Given the description of an element on the screen output the (x, y) to click on. 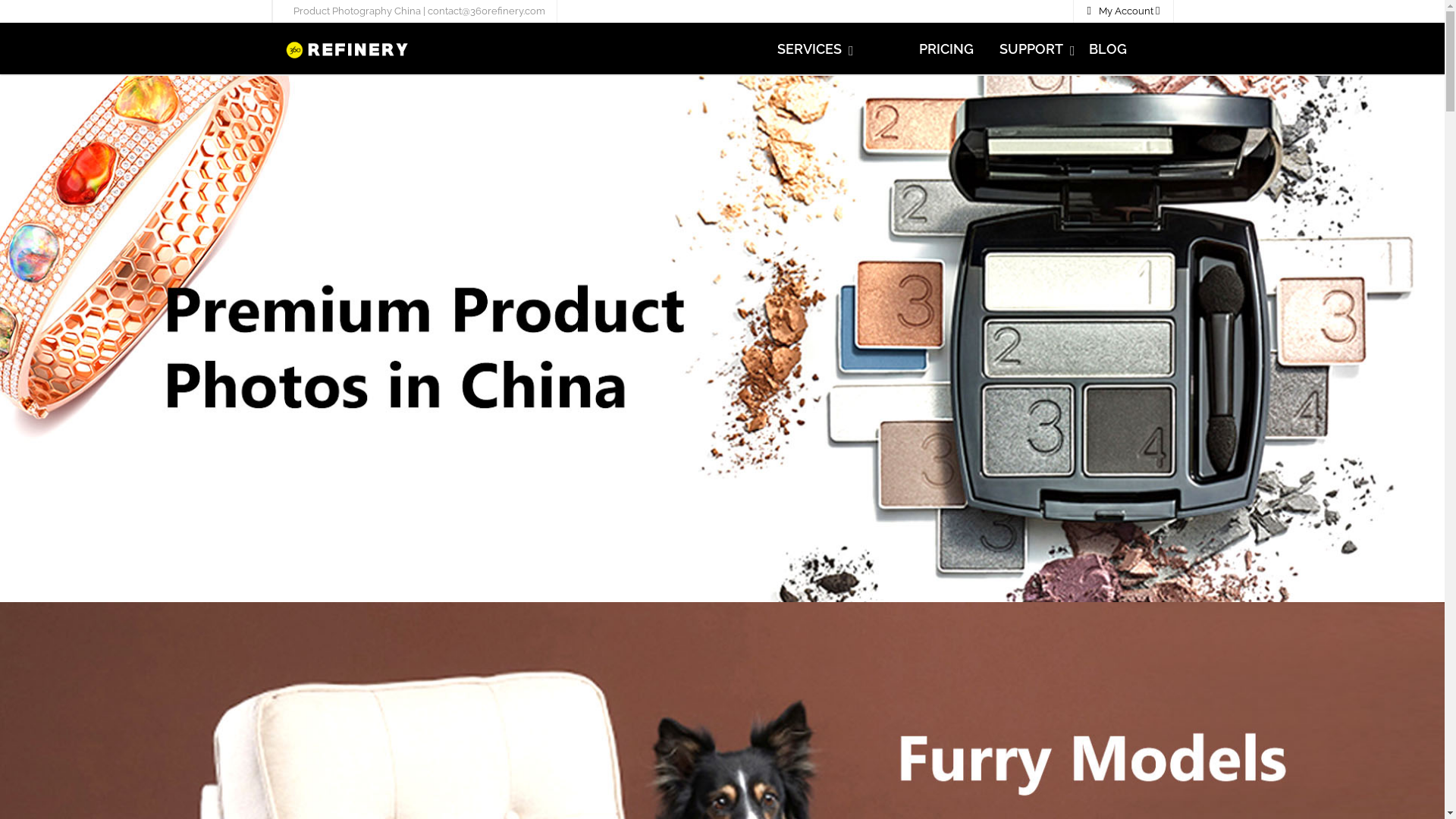
SUPPORT Element type: text (1031, 48)
SERVICES Element type: text (809, 48)
BLOG Element type: text (1107, 48)
PRICING Element type: text (946, 48)
